Given the description of an element on the screen output the (x, y) to click on. 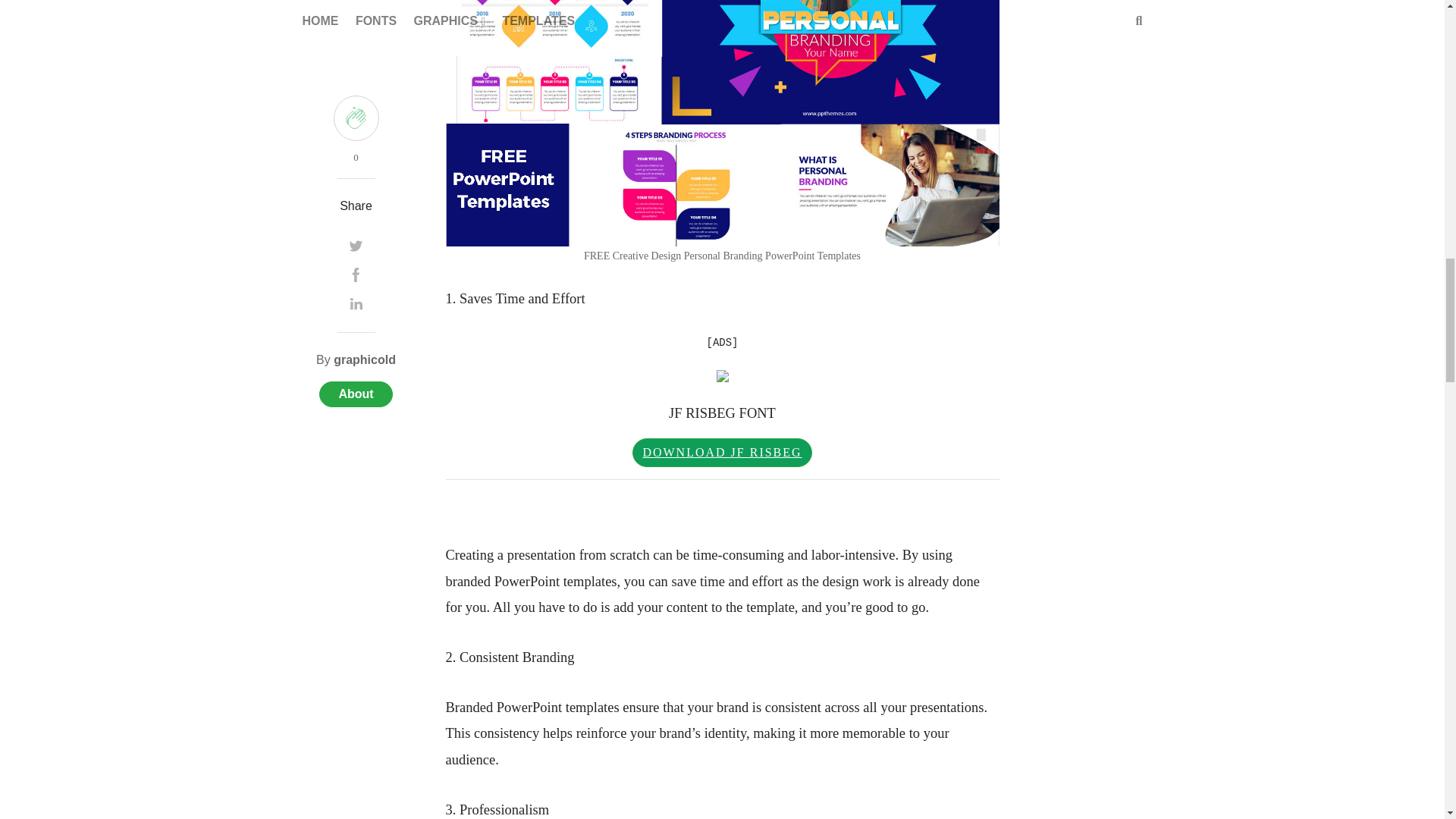
DOWNLOAD JF RISBEG (720, 452)
